Given the description of an element on the screen output the (x, y) to click on. 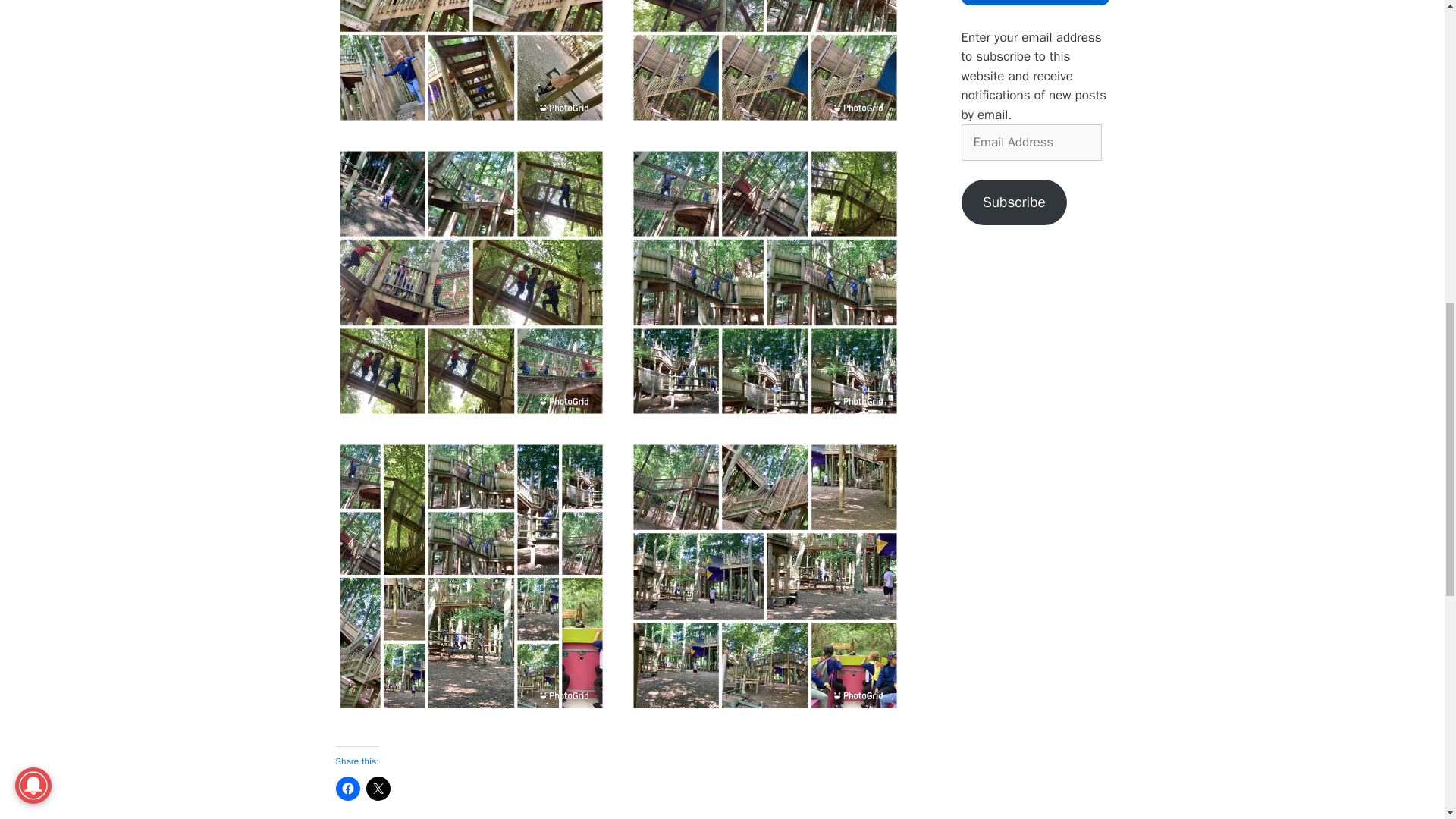
Click to share on Facebook (346, 788)
Click to share on X (377, 788)
Scroll back to top (1406, 720)
